Given the description of an element on the screen output the (x, y) to click on. 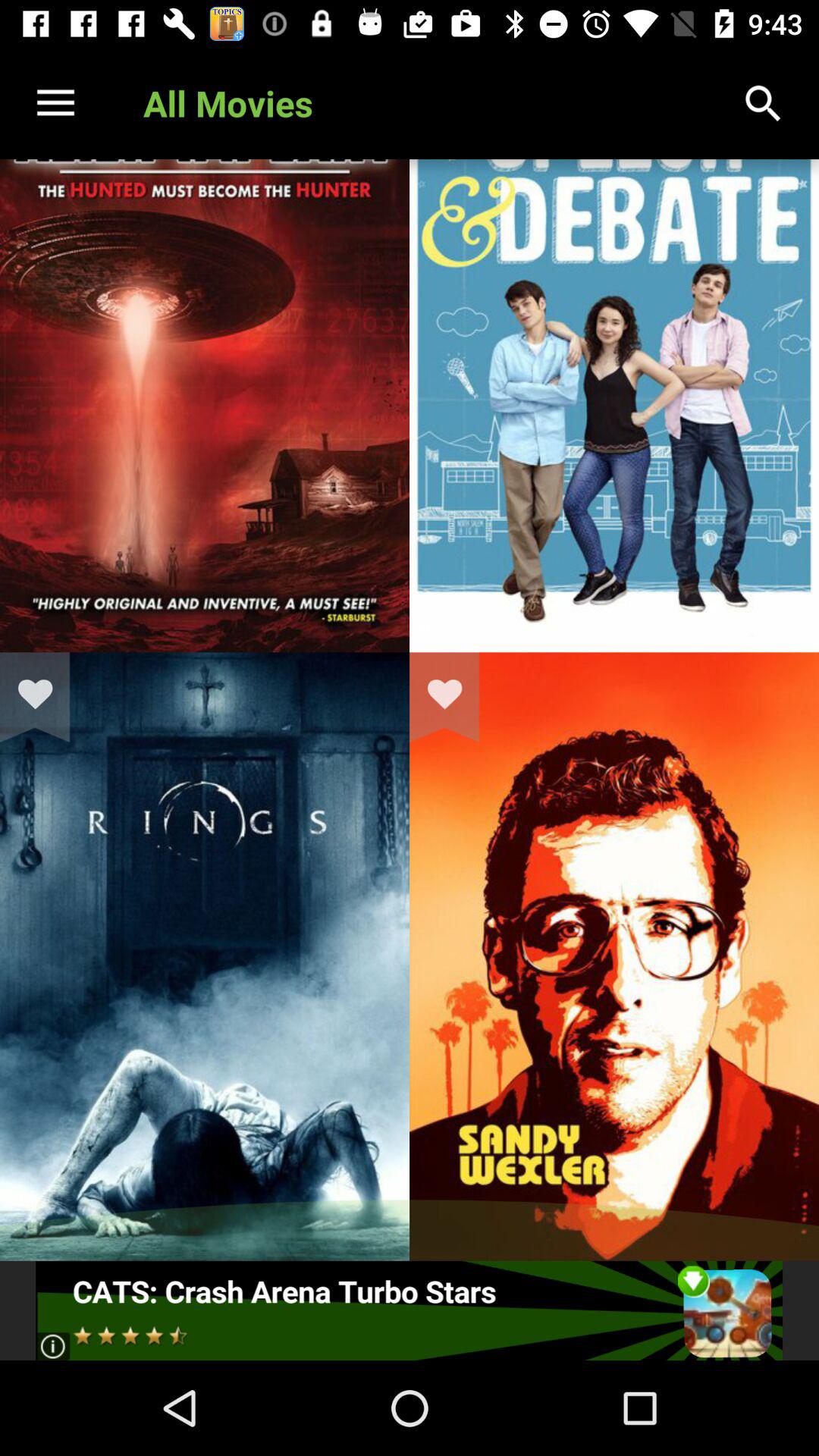
love the movie (44, 697)
